Given the description of an element on the screen output the (x, y) to click on. 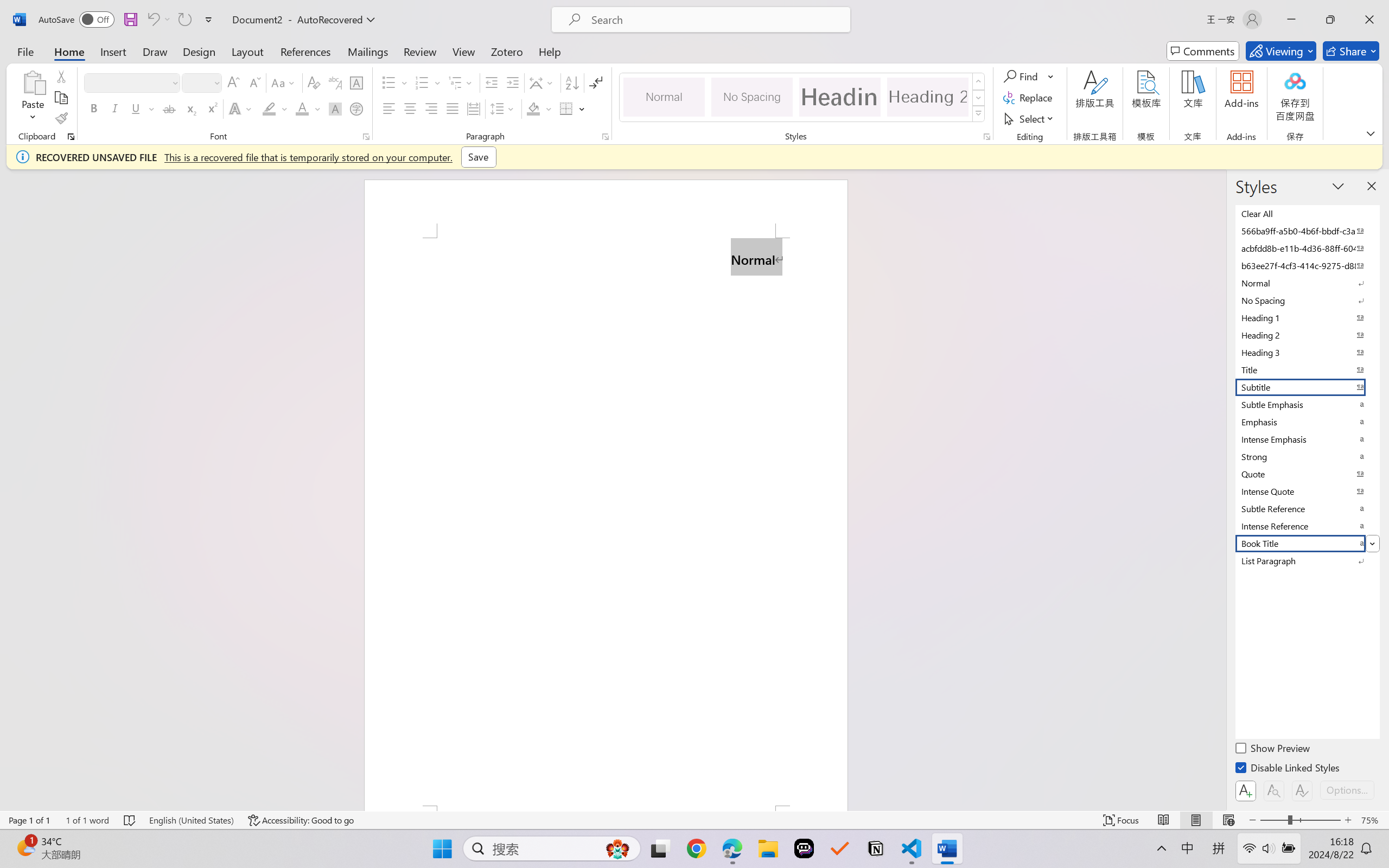
Decrease Indent (491, 82)
Asian Layout (542, 82)
Heading 2 (927, 96)
Subtitle (1306, 386)
Text Effects and Typography (241, 108)
Multilevel List (461, 82)
Bold (94, 108)
b63ee27f-4cf3-414c-9275-d88e3f90795e (1306, 265)
Clear All (1306, 213)
Subtle Emphasis (1306, 404)
